Given the description of an element on the screen output the (x, y) to click on. 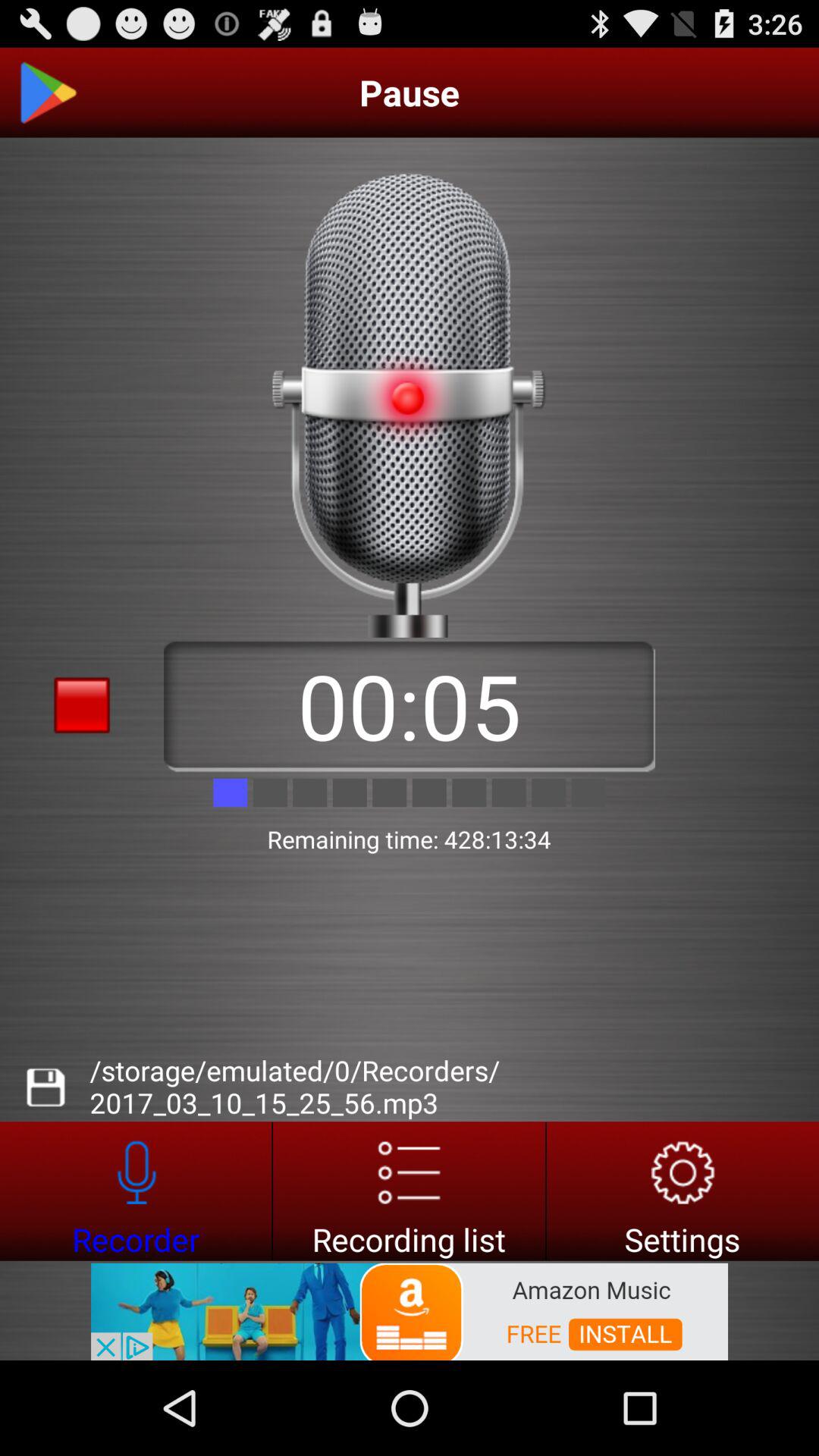
view advertisement (409, 1310)
